Given the description of an element on the screen output the (x, y) to click on. 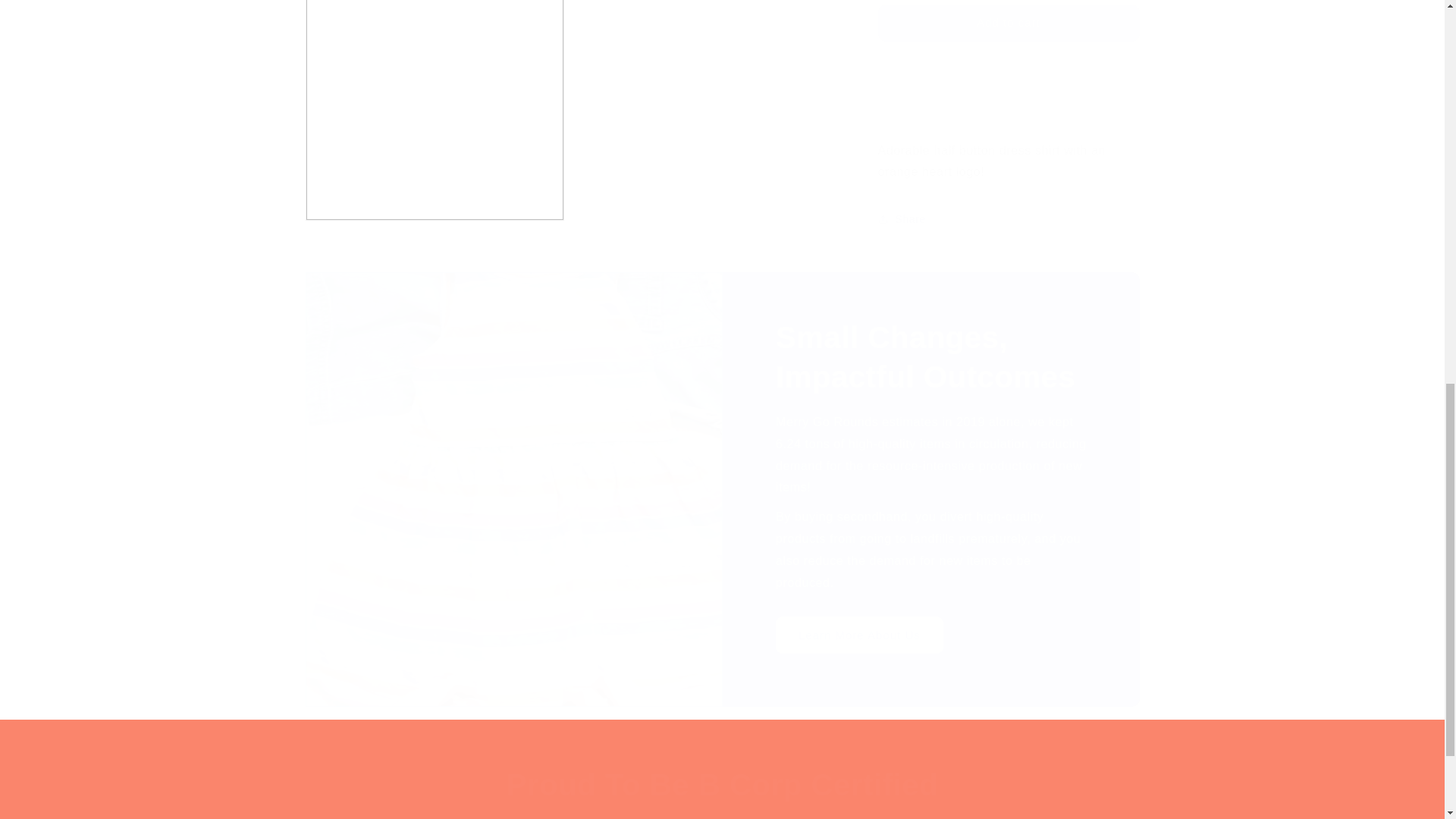
Open media 2 in modal (434, 103)
Proud To Be B Corp Certified (721, 784)
